Given the description of an element on the screen output the (x, y) to click on. 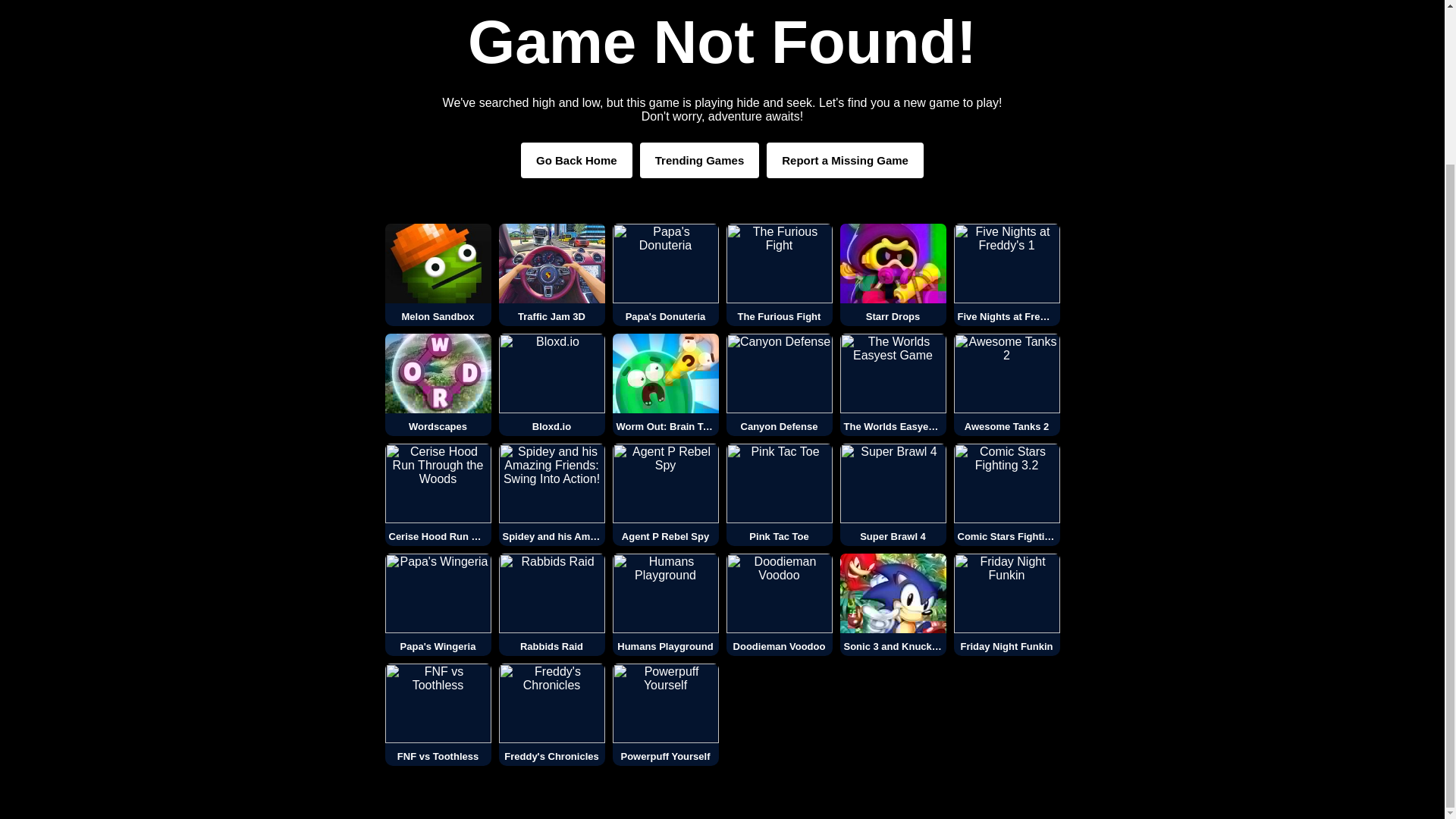
Trending Games (700, 160)
Report a Missing Game (845, 160)
Doodieman Voodoo (779, 604)
Starr Drops (893, 274)
Five Nights at Freddy's 1 (1006, 274)
Friday Night Funkin (1006, 604)
Awesome Tanks 2 (1006, 384)
Spidey and his Amazing Friends: Swing Into Action! (552, 494)
Rabbids Raid (552, 604)
The Furious Fight (779, 274)
